Given the description of an element on the screen output the (x, y) to click on. 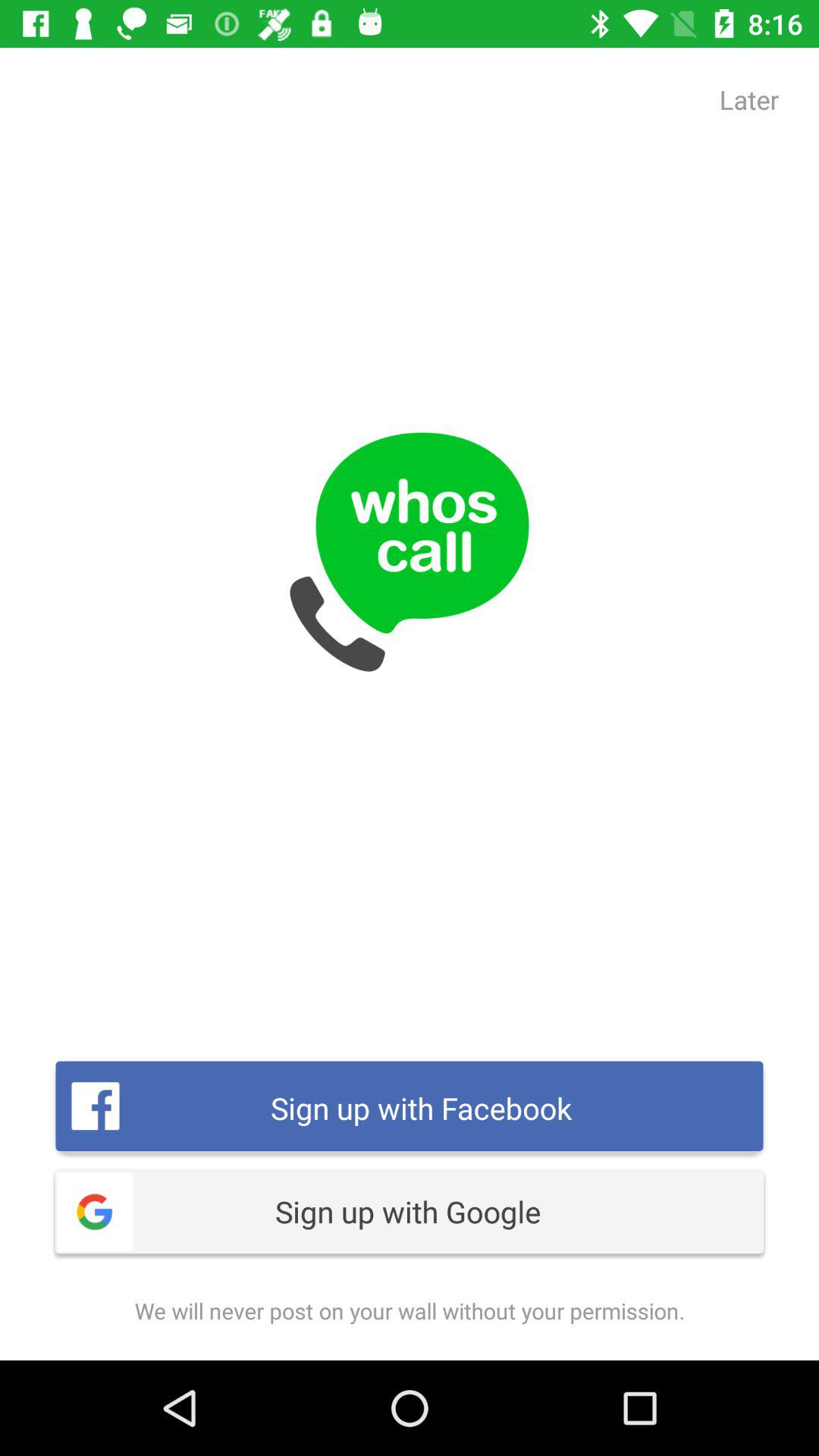
tap item above the sign up with item (749, 99)
